Given the description of an element on the screen output the (x, y) to click on. 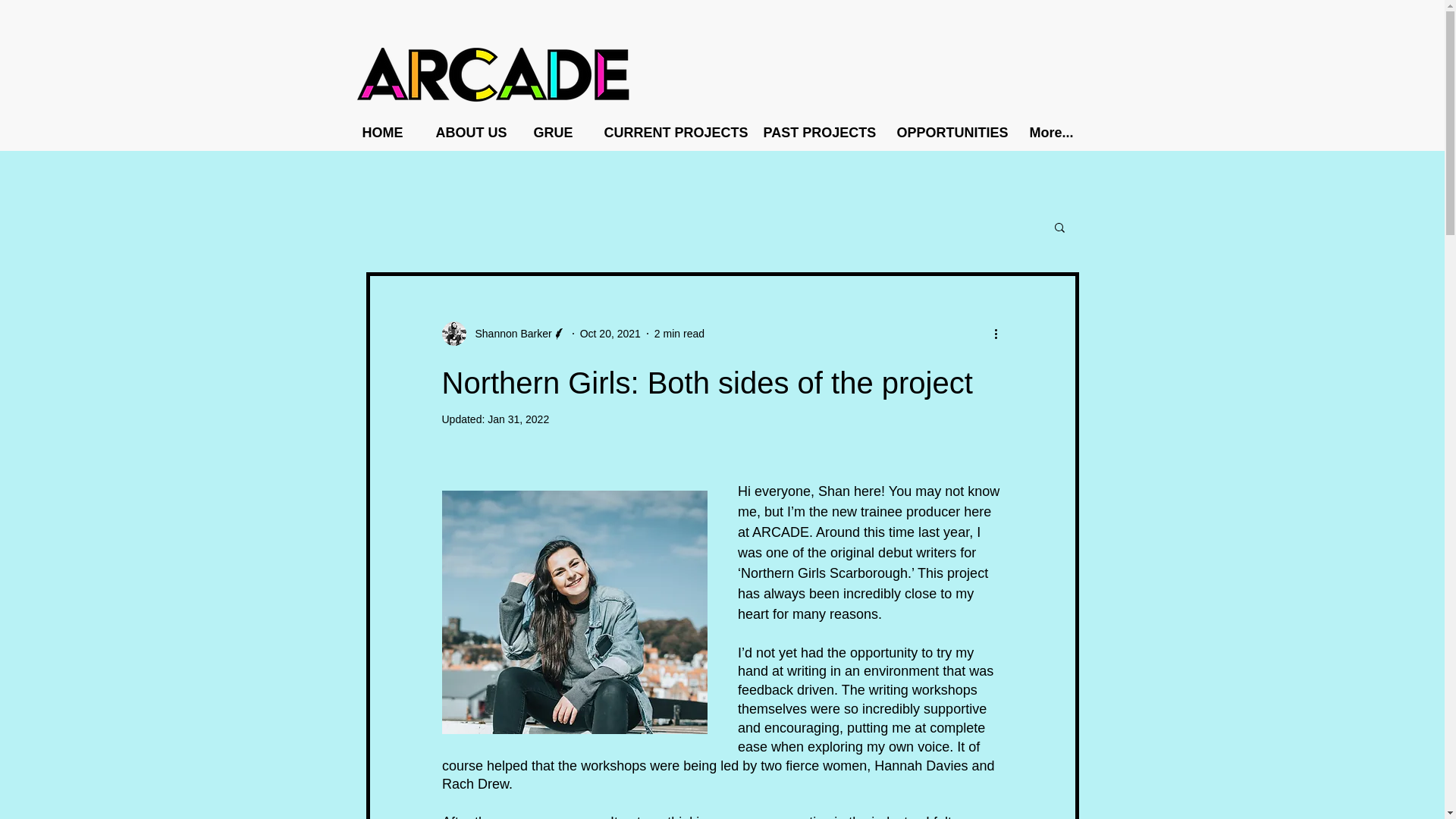
OPPORTUNITIES (951, 132)
Oct 20, 2021 (609, 333)
HOME (386, 132)
Shannon Barker (503, 333)
CURRENT PROJECTS (672, 132)
Shannon Barker (508, 333)
PAST PROJECTS (818, 132)
ABOUT US (473, 132)
Jan 31, 2022 (517, 419)
2 min read (678, 333)
